Given the description of an element on the screen output the (x, y) to click on. 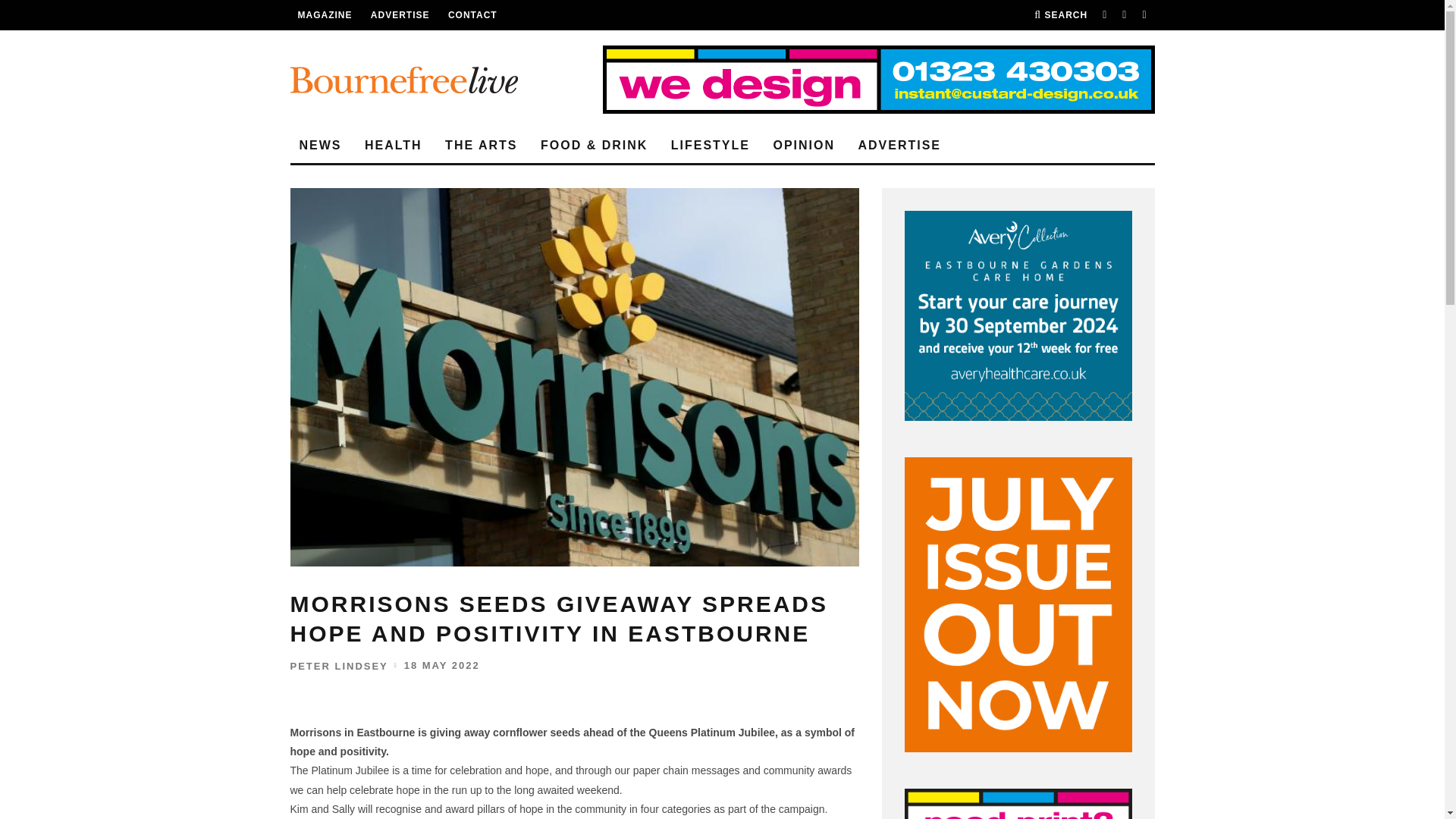
ADVERTISE (400, 15)
OPINION (803, 145)
Log In (721, 409)
HEALTH (392, 145)
LIFESTYLE (710, 145)
NEWS (319, 145)
MAGAZINE (324, 15)
Search (1060, 15)
ADVERTISE (899, 145)
CONTACT (472, 15)
THE ARTS (480, 145)
PETER LINDSEY (338, 665)
SEARCH (1060, 15)
